Given the description of an element on the screen output the (x, y) to click on. 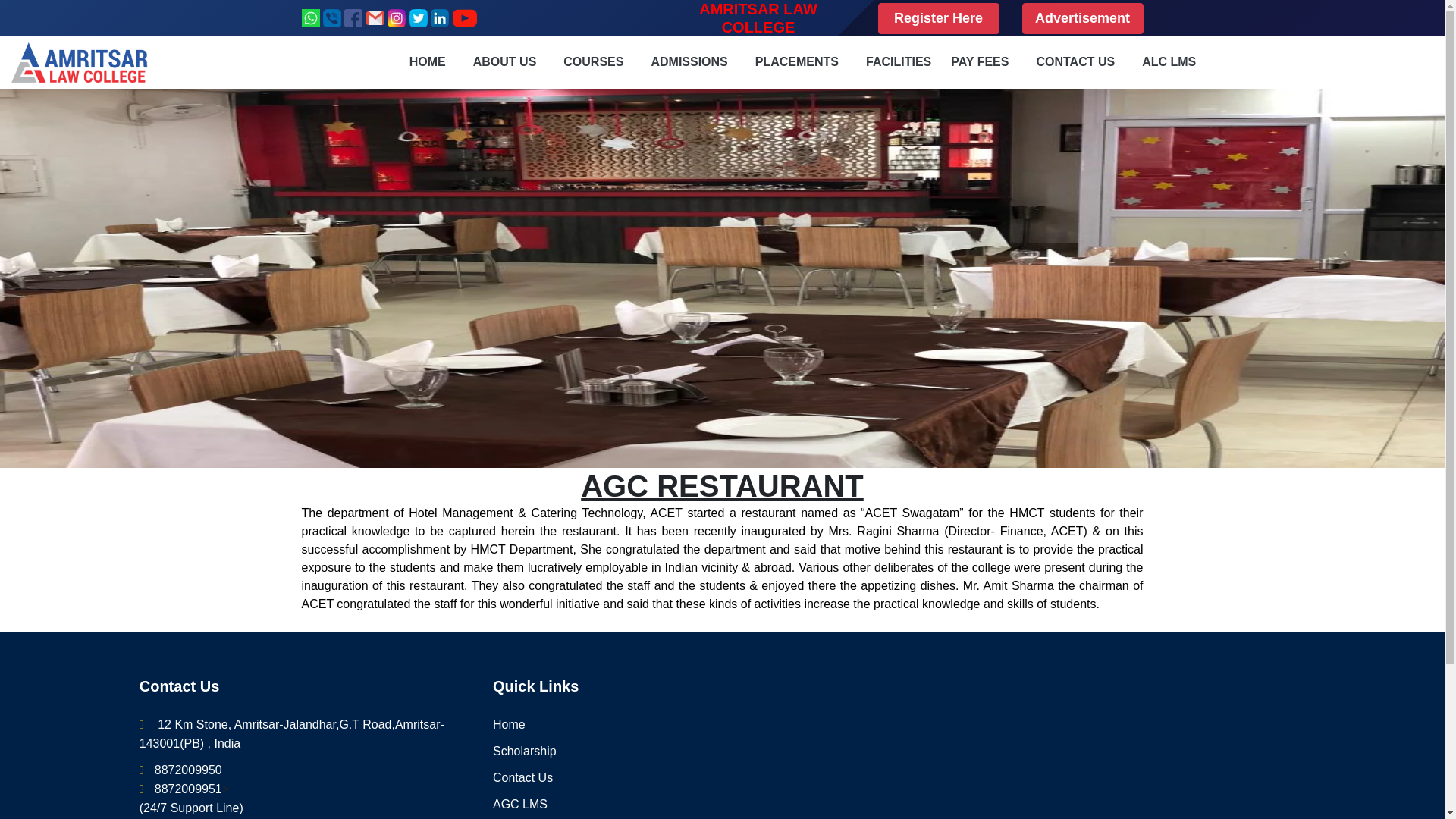
COURSES (592, 61)
YouTube video player (1189, 748)
Register Here (937, 18)
ABOUT US (505, 61)
Advertisement (1082, 18)
HOME (427, 61)
FACILITIES (898, 61)
Acet logo (79, 62)
PLACEMENTS (796, 61)
ADMISSIONS (689, 61)
